Given the description of an element on the screen output the (x, y) to click on. 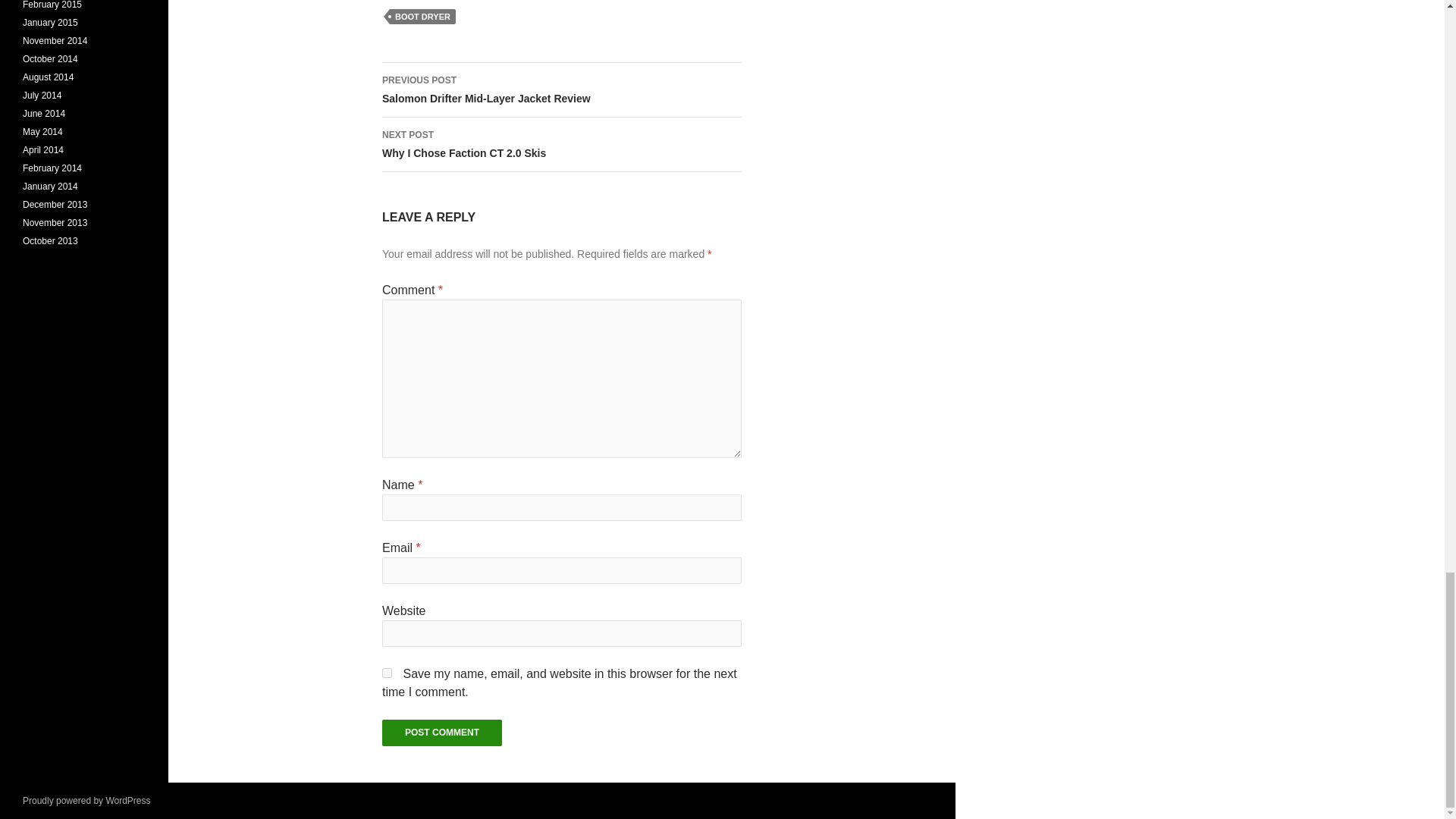
Post Comment (561, 144)
Post Comment (441, 732)
yes (441, 732)
BOOT DRYER (386, 673)
